Given the description of an element on the screen output the (x, y) to click on. 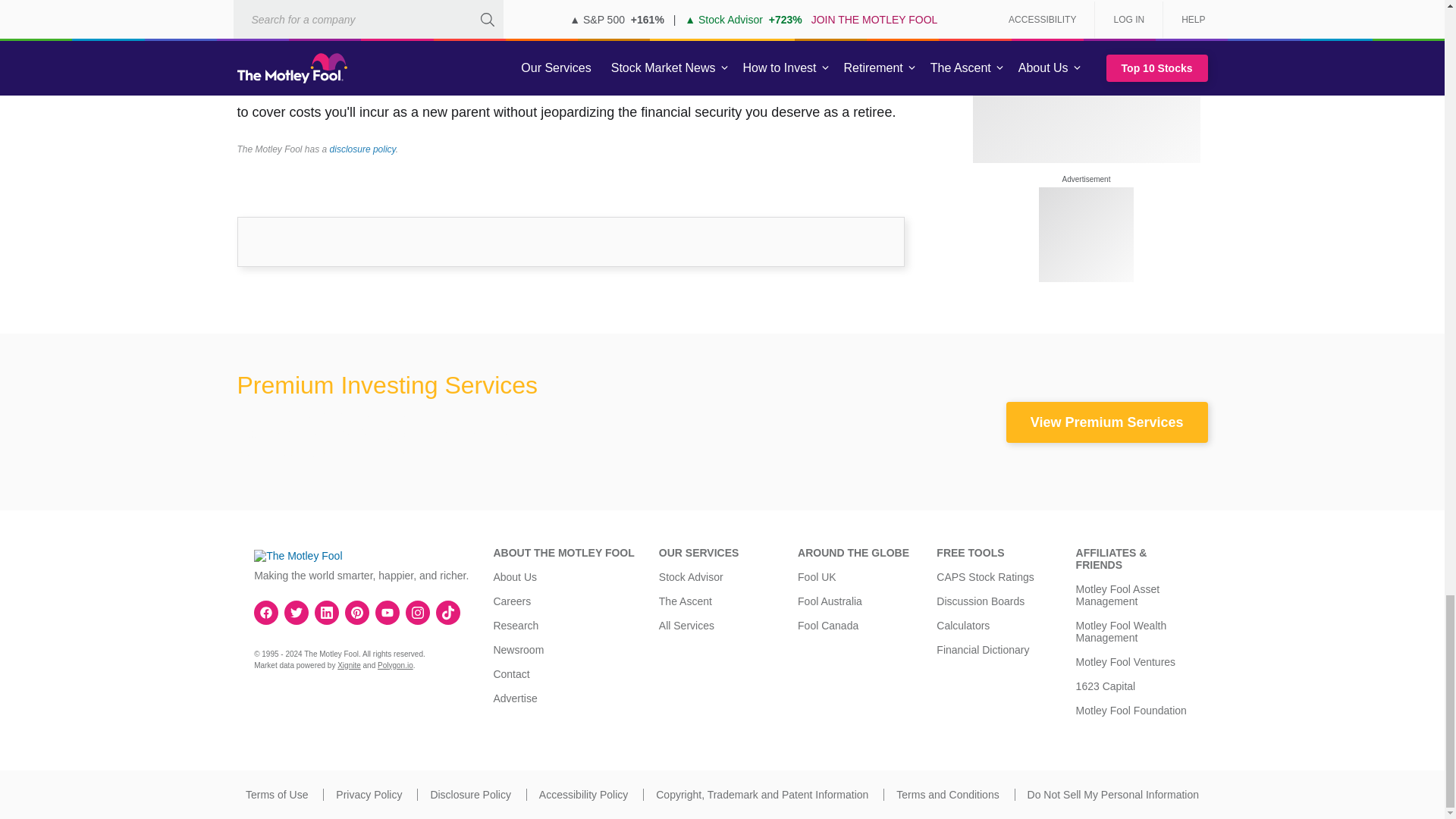
Terms of Use (276, 794)
Do Not Sell My Personal Information. (1112, 794)
Privacy Policy (368, 794)
Terms and Conditions (947, 794)
Copyright, Trademark and Patent Information (761, 794)
Disclosure Policy (470, 794)
Accessibility Policy (582, 794)
